Given the description of an element on the screen output the (x, y) to click on. 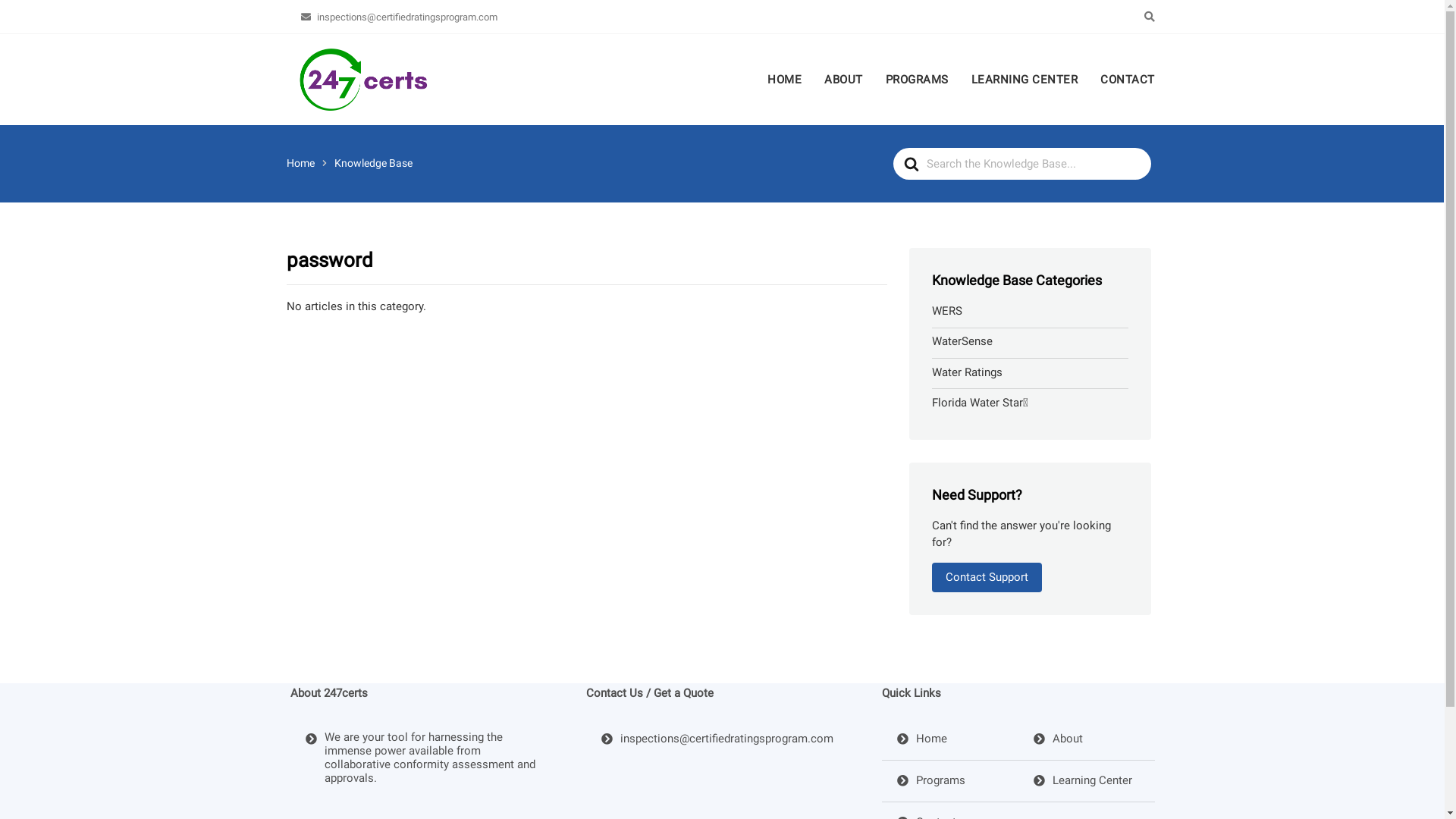
Programs Element type: text (930, 781)
inspections@certifiedratingsprogram.com Element type: text (716, 739)
Home Element type: text (300, 162)
Water Ratings Element type: text (966, 372)
Home Element type: text (921, 739)
inspections@certifiedratingsprogram.com Element type: text (398, 16)
WERS Element type: text (946, 311)
Knowledge Base Element type: text (373, 162)
WaterSense Element type: text (961, 341)
Contact Support Element type: text (986, 577)
Search Element type: text (102, 6)
HOME Element type: text (789, 79)
Learning Center Element type: text (1081, 781)
ABOUT Element type: text (843, 79)
About Element type: text (1057, 739)
CONTACT Element type: text (1121, 79)
PROGRAMS Element type: text (916, 79)
LEARNING CENTER Element type: text (1024, 79)
